Given the description of an element on the screen output the (x, y) to click on. 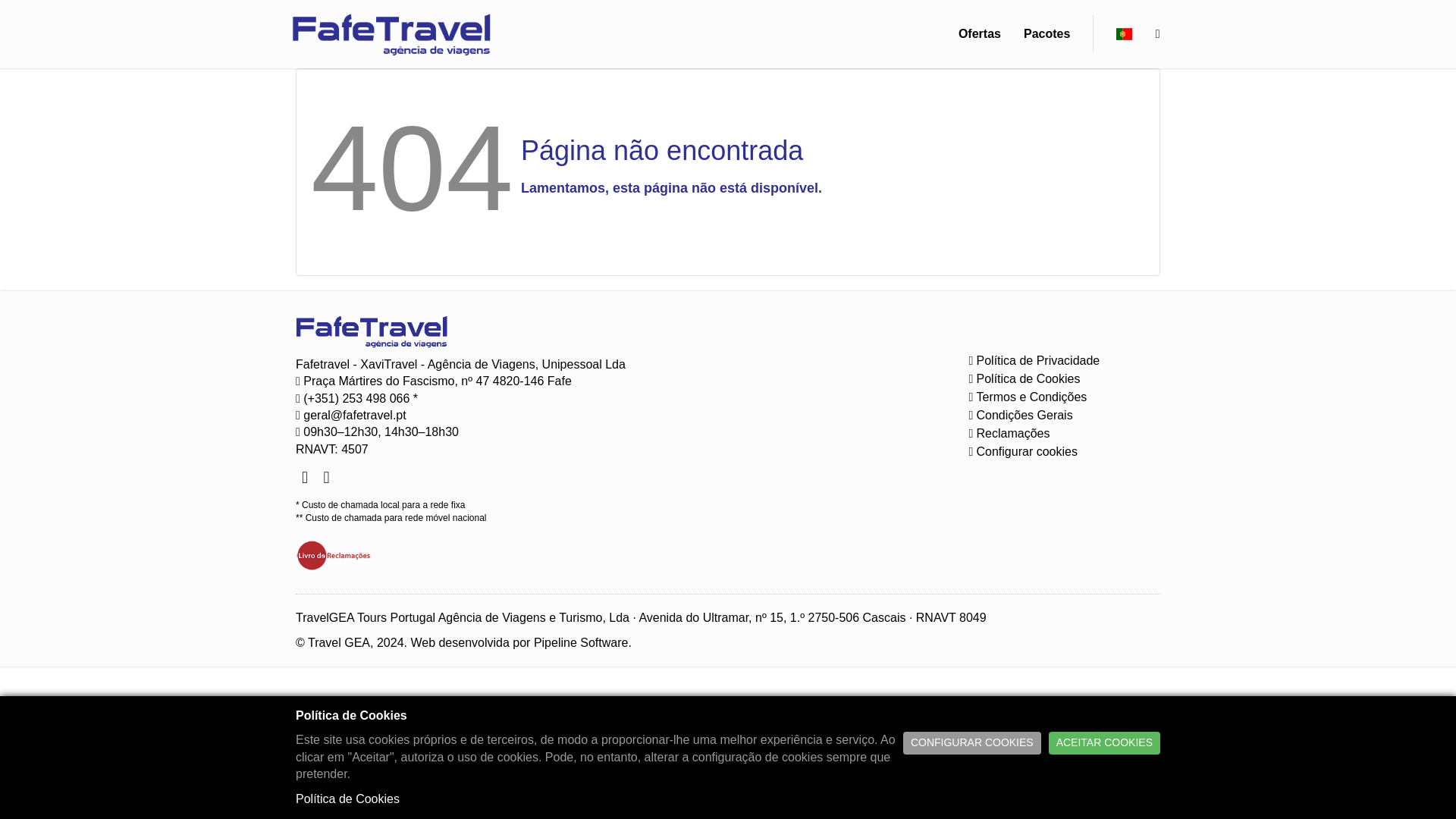
Ofertas (979, 34)
Pacotes (1046, 34)
Pacotes (1046, 34)
Configurar cookies (1018, 451)
Ofertas (979, 34)
GEAweb (390, 33)
